Given the description of an element on the screen output the (x, y) to click on. 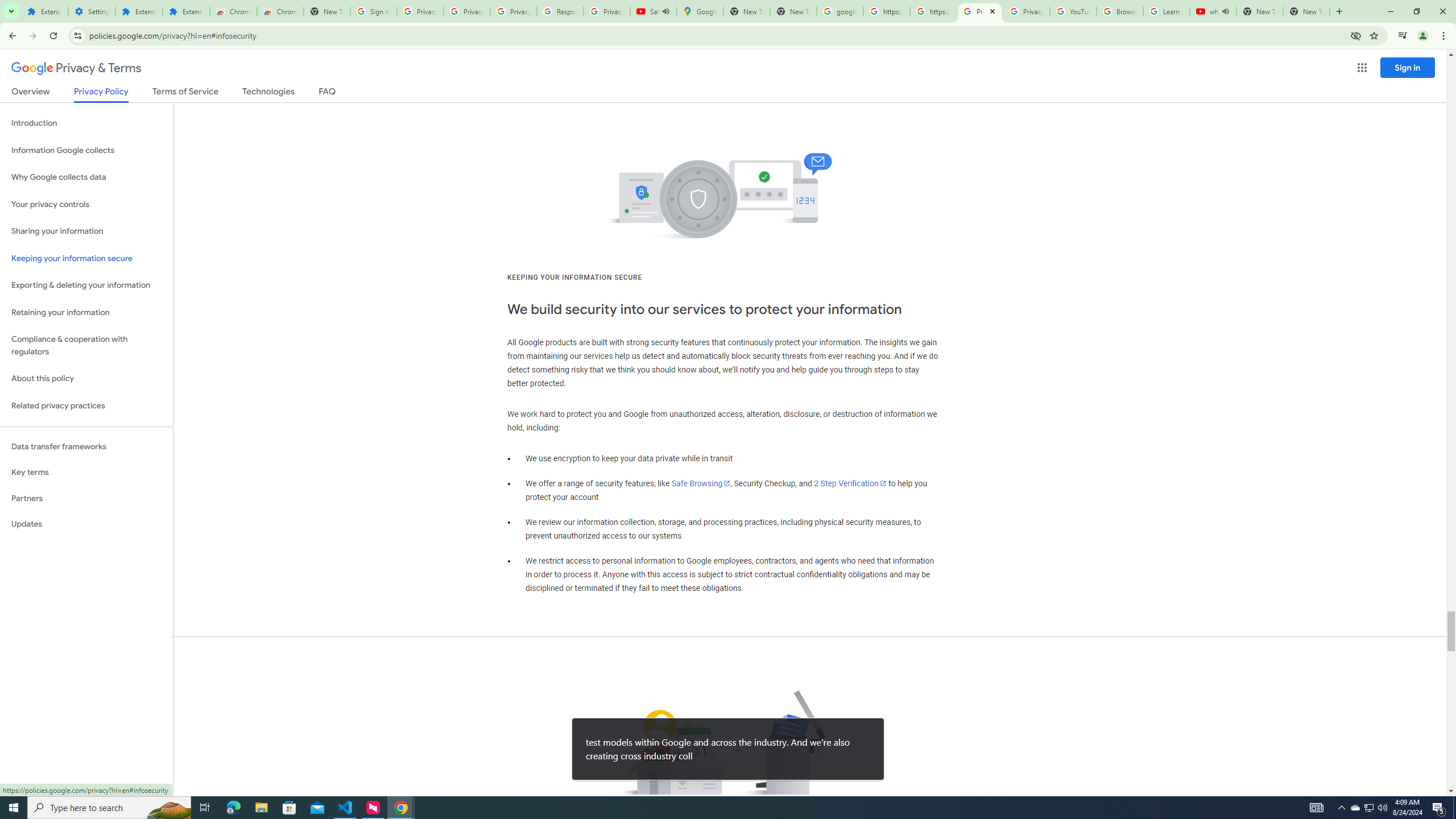
View site information (77, 35)
Forward (32, 35)
Google apps (1362, 67)
New Tab (326, 11)
2 Step Verification (849, 483)
Chrome (1445, 35)
New Tab (1306, 11)
Keeping your information secure (86, 258)
